Given the description of an element on the screen output the (x, y) to click on. 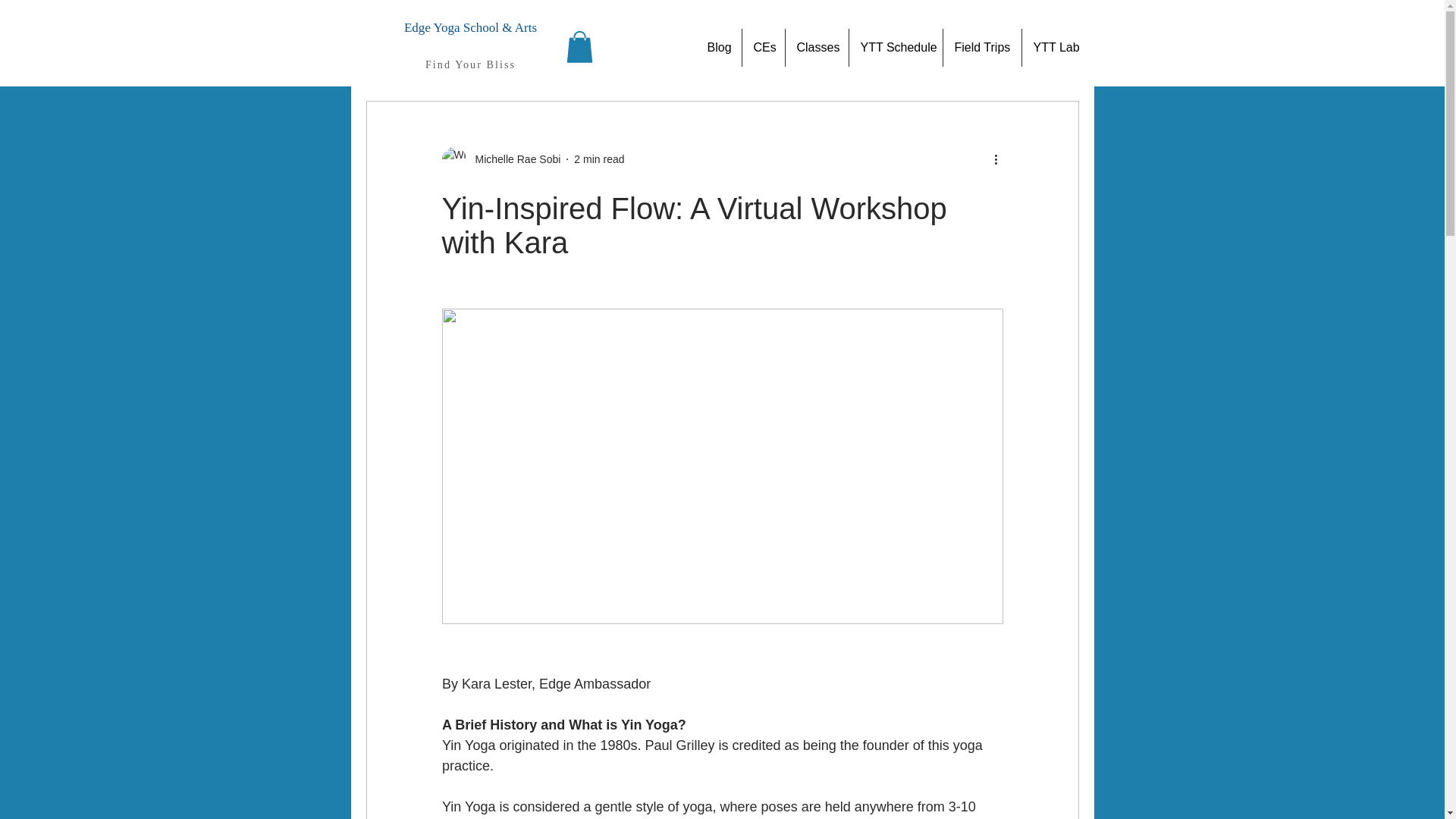
Michelle Rae Sobi (512, 159)
Field Trips (982, 47)
2 min read (598, 159)
CEs (762, 47)
Classes (817, 47)
Blog (718, 47)
YTT Schedule (895, 47)
Michelle Rae Sobi (500, 159)
YTT Lab (1053, 47)
Find Your Bliss (470, 64)
